Given the description of an element on the screen output the (x, y) to click on. 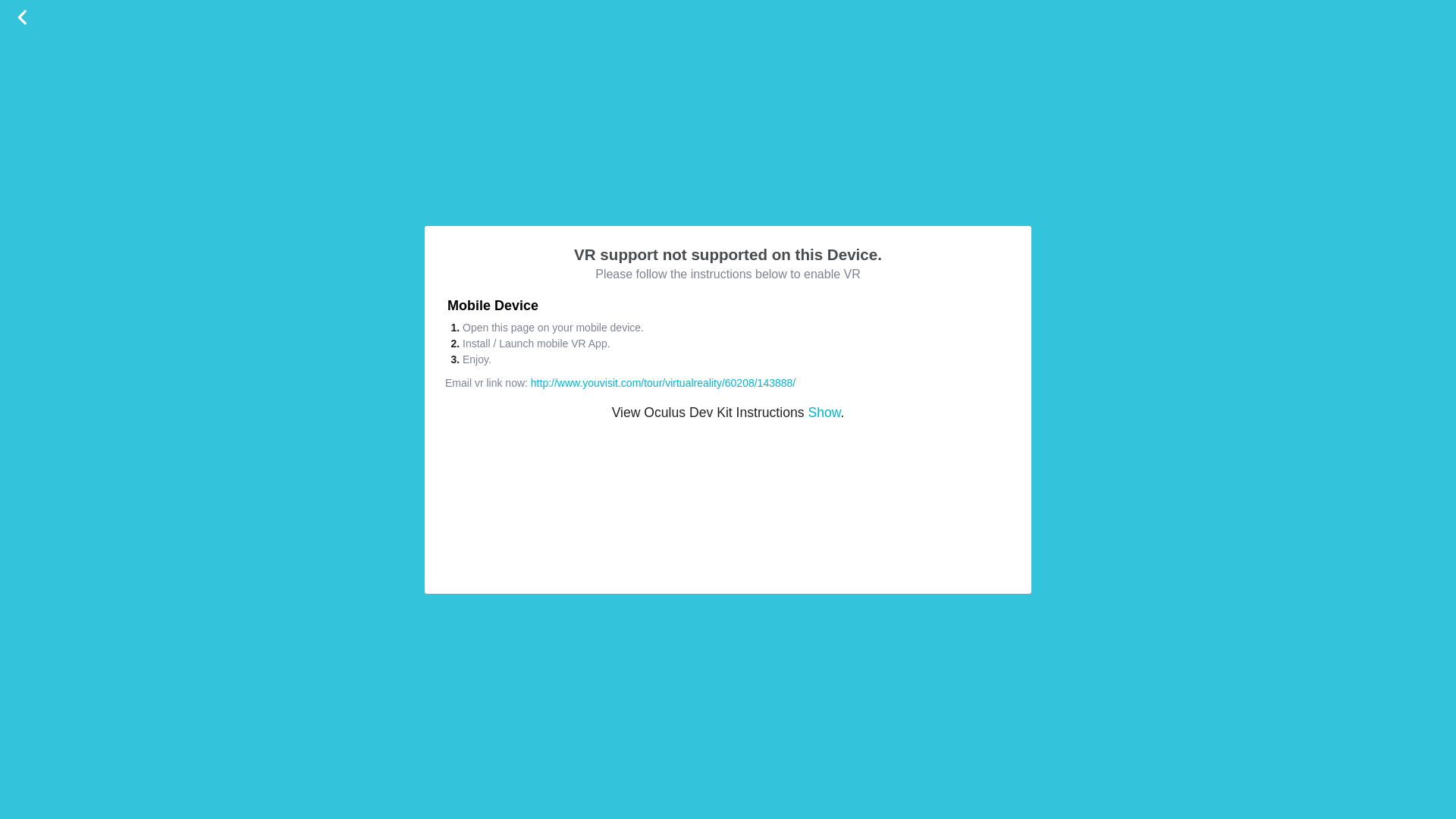
Show (824, 412)
